Given the description of an element on the screen output the (x, y) to click on. 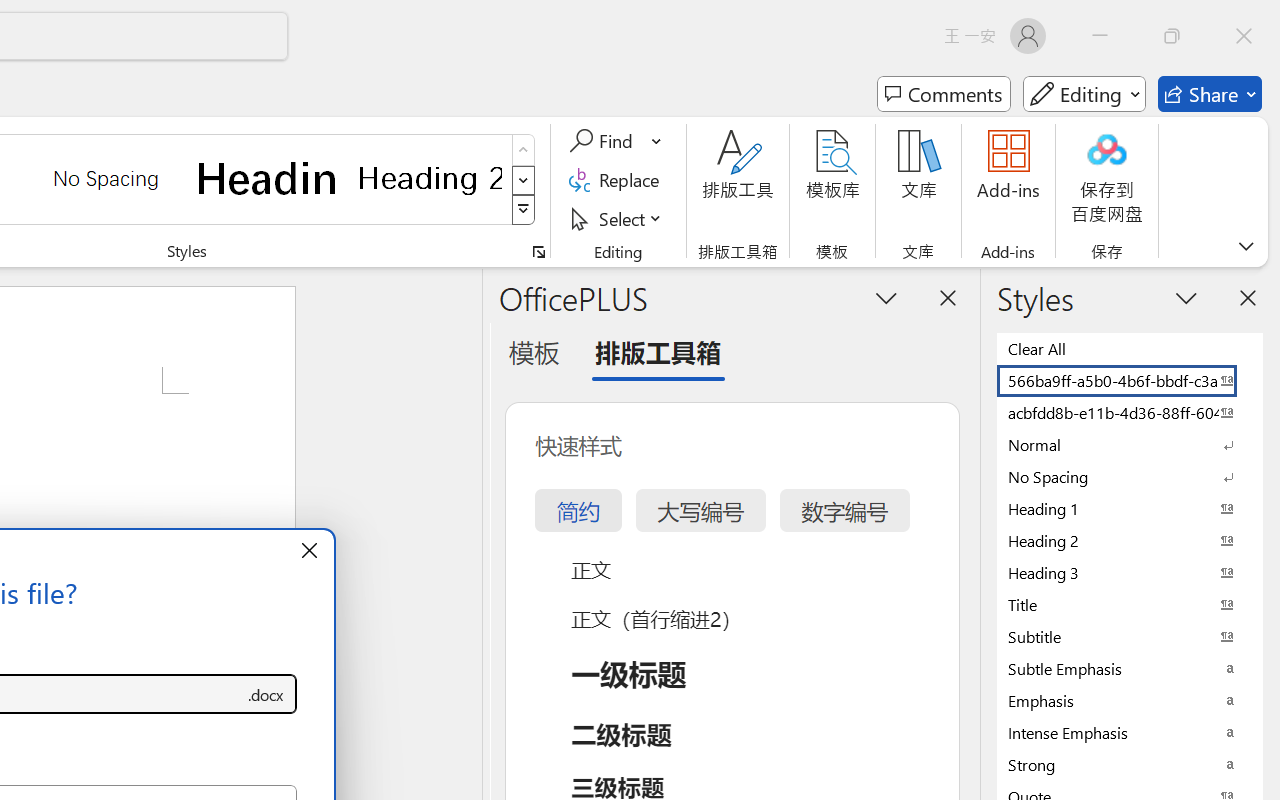
566ba9ff-a5b0-4b6f-bbdf-c3ab41993fc2 (1130, 380)
Close (1244, 36)
Task Pane Options (886, 297)
Minimize (1099, 36)
Styles... (538, 252)
Clear All (1130, 348)
Styles (523, 209)
Find (616, 141)
Comments (943, 94)
acbfdd8b-e11b-4d36-88ff-6049b138f862 (1130, 412)
Row up (523, 150)
